Given the description of an element on the screen output the (x, y) to click on. 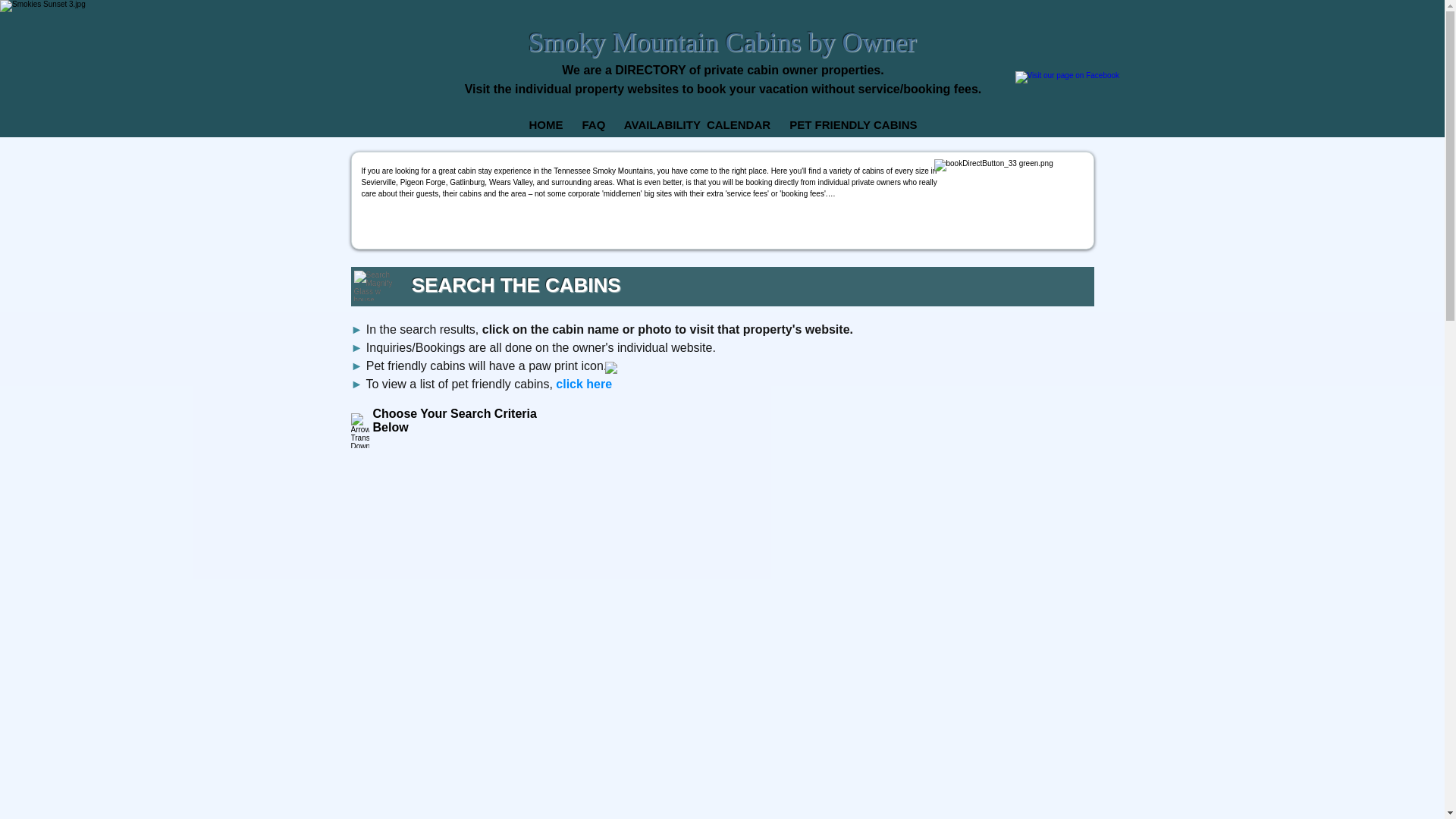
AVAILABILITY  CALENDAR (697, 124)
FAQ (592, 124)
click here (583, 383)
PET FRIENDLY CABINS (853, 124)
Smoky Mountain Cabins by Owner (721, 42)
Visit our Facebook Page (1069, 92)
HOME (545, 124)
